Given the description of an element on the screen output the (x, y) to click on. 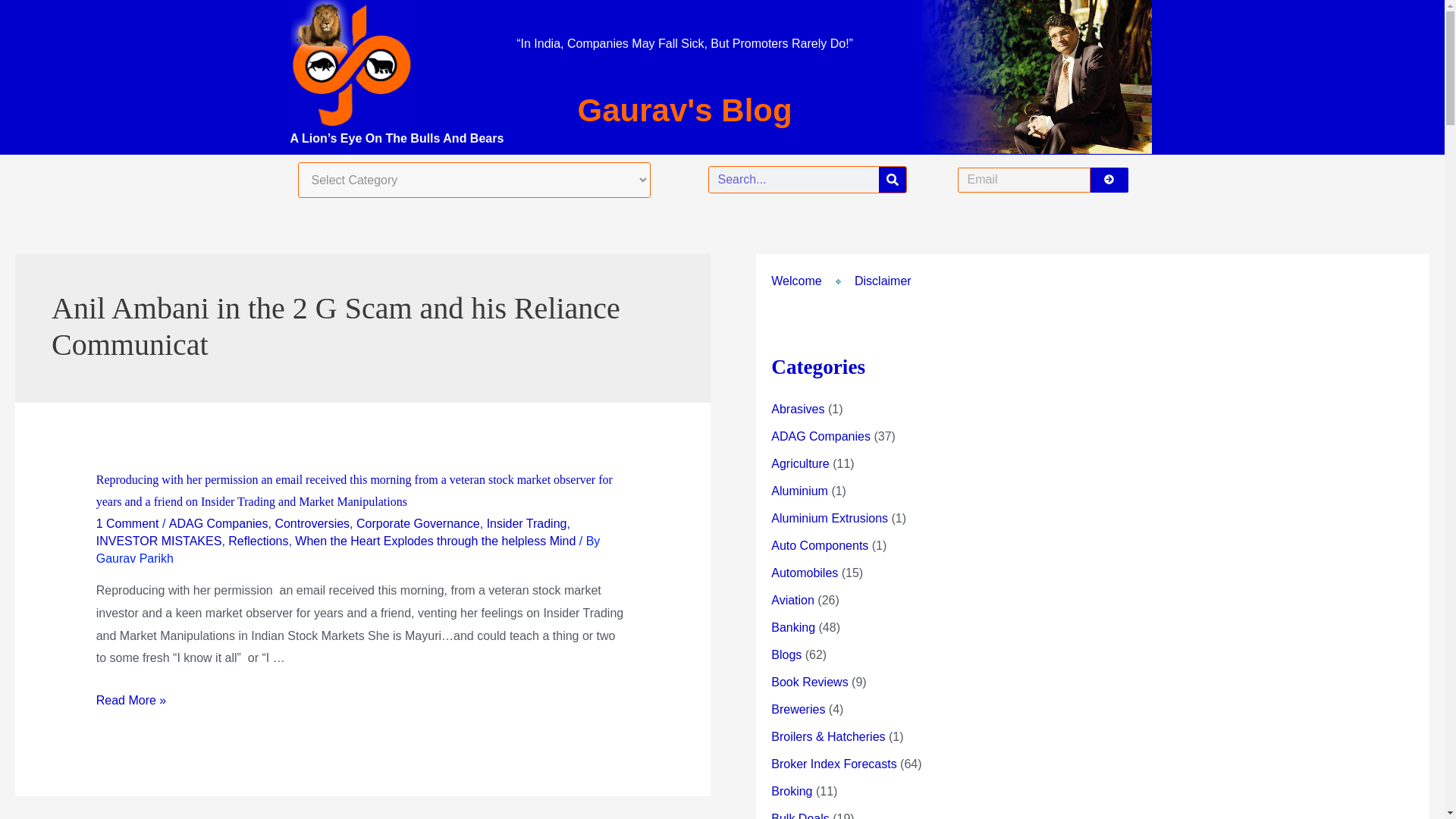
Aviation (792, 599)
Abrasives (797, 408)
ADAG Companies (820, 436)
Controversies (312, 522)
Broking (791, 790)
Welcome (796, 280)
Blogs (786, 654)
When the Heart Explodes through the helpless Mind (435, 540)
Agriculture (799, 463)
Disclaimer (882, 280)
View all posts by Gaurav Parikh (134, 558)
Broker Index Forecasts (833, 763)
ADAG Companies (217, 522)
Bulk Deals (799, 815)
